Given the description of an element on the screen output the (x, y) to click on. 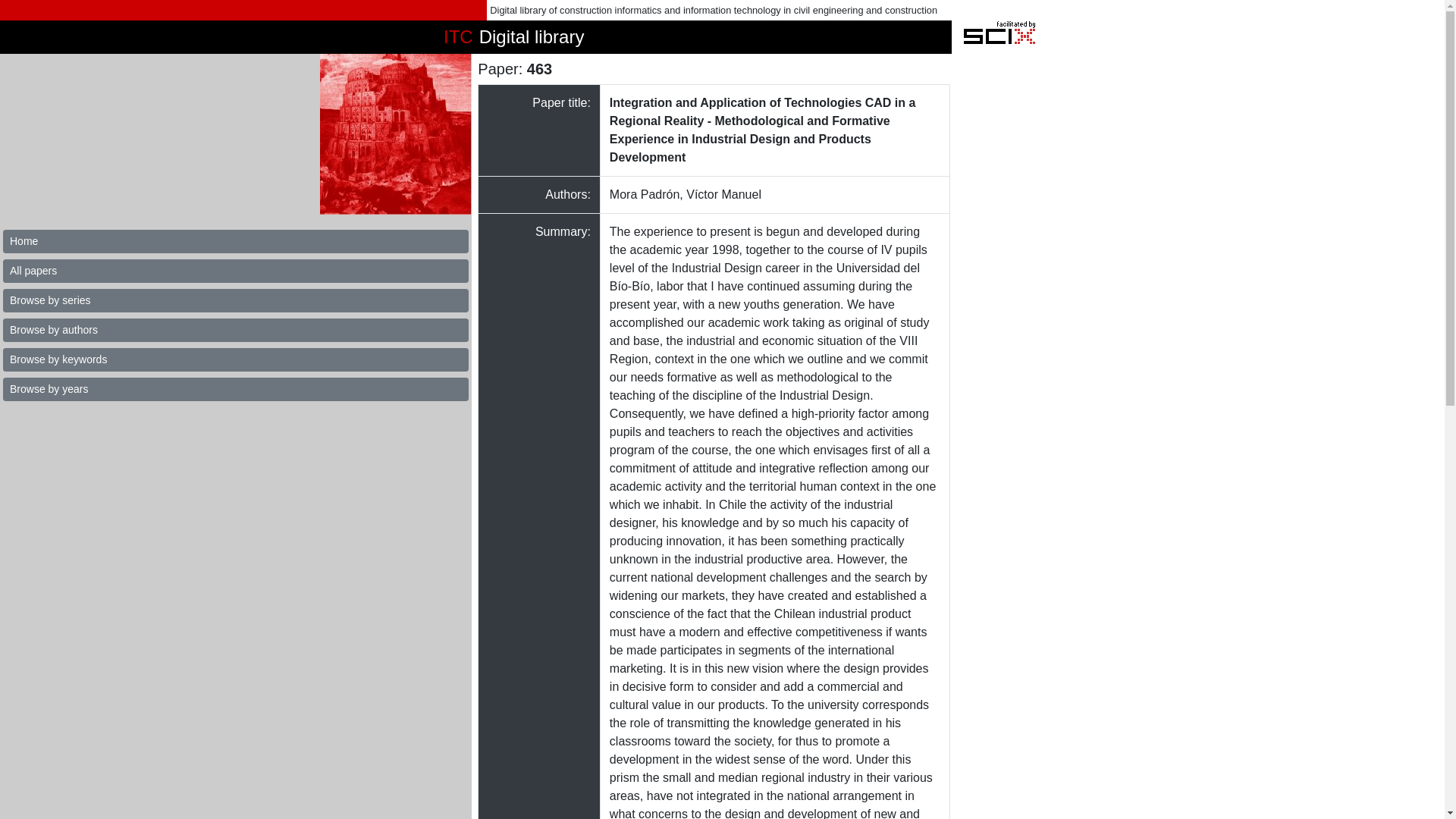
Home (235, 241)
Browse by years (235, 389)
Browse by series (235, 300)
Browse by authors (235, 330)
Browse by keywords (235, 359)
All papers (235, 270)
